Given the description of an element on the screen output the (x, y) to click on. 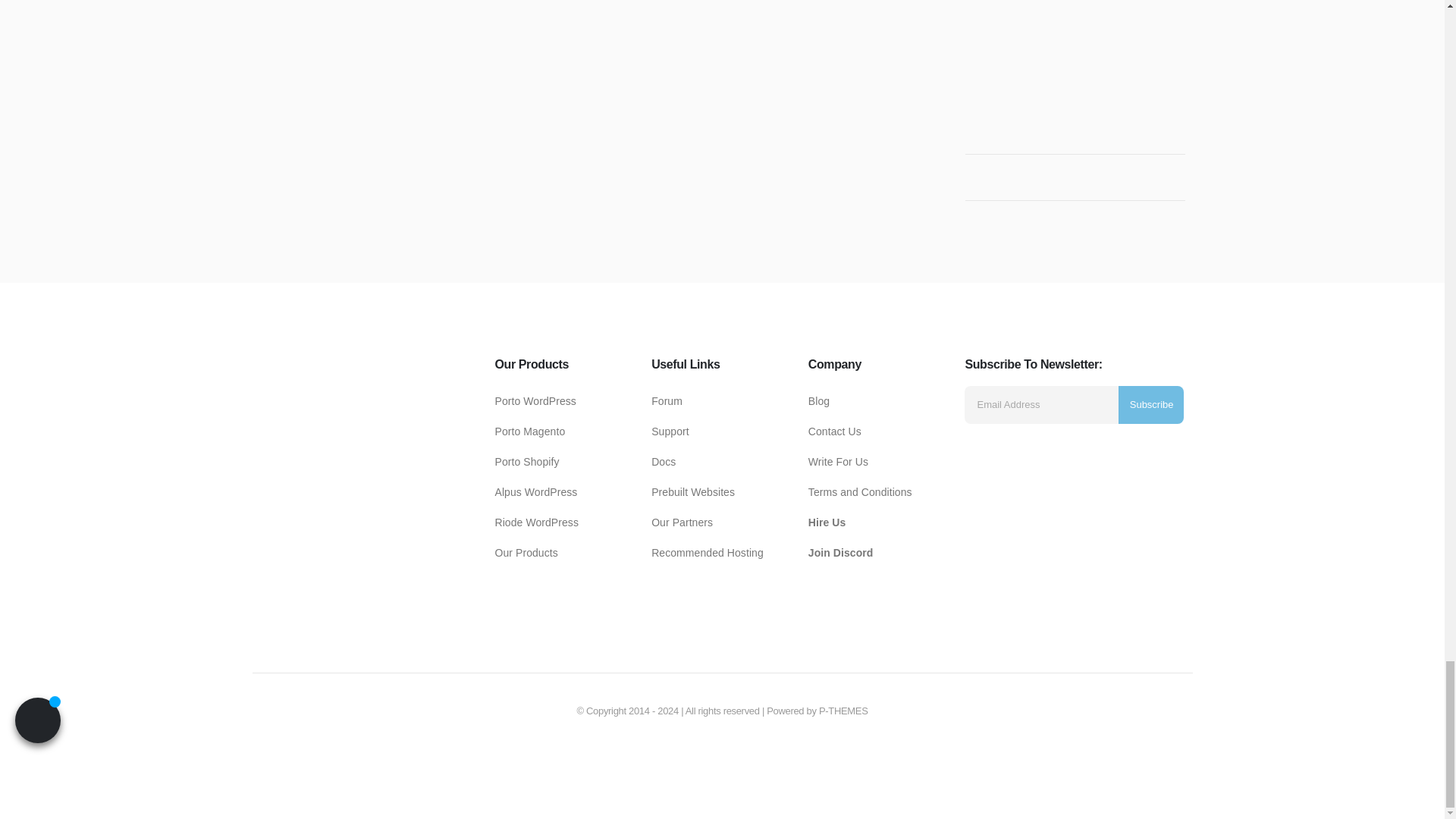
porto shopify (527, 461)
porto wordpress (535, 400)
porto magento (529, 431)
Subscribe (1151, 404)
Logo (369, 462)
Riode WordPress (535, 491)
